Given the description of an element on the screen output the (x, y) to click on. 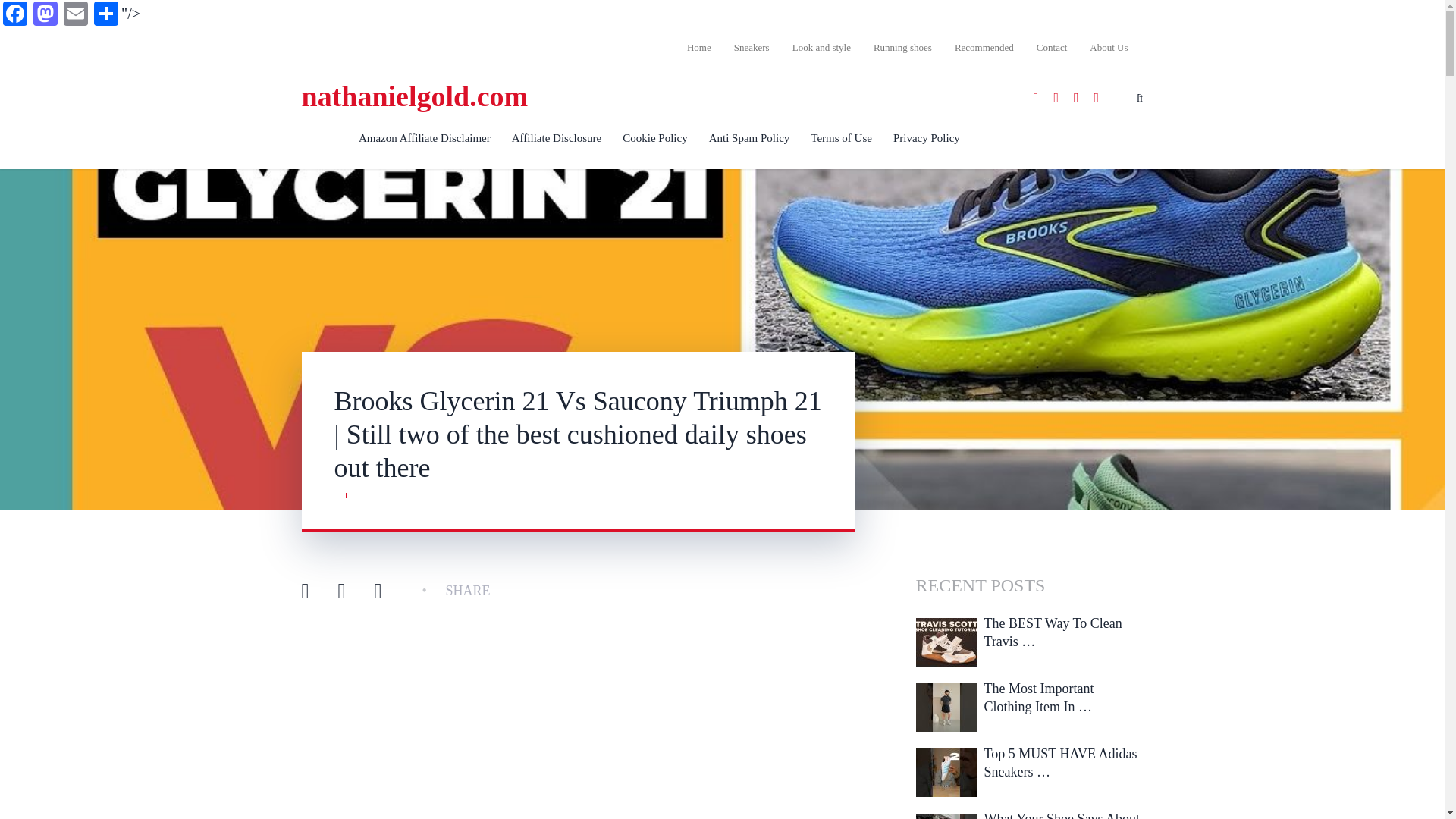
Facebook (15, 15)
Mastodon (45, 15)
Sneakers (751, 46)
Mastodon (45, 15)
Amazon Affiliate Disclaimer (423, 137)
Privacy Policy (926, 137)
Email (75, 15)
Running shoes (902, 46)
Email (75, 15)
Facebook (15, 15)
About Us (1102, 46)
Terms of Use (840, 137)
YouTube video player (578, 729)
Recommended (984, 46)
Affiliate Disclosure (555, 137)
